Given the description of an element on the screen output the (x, y) to click on. 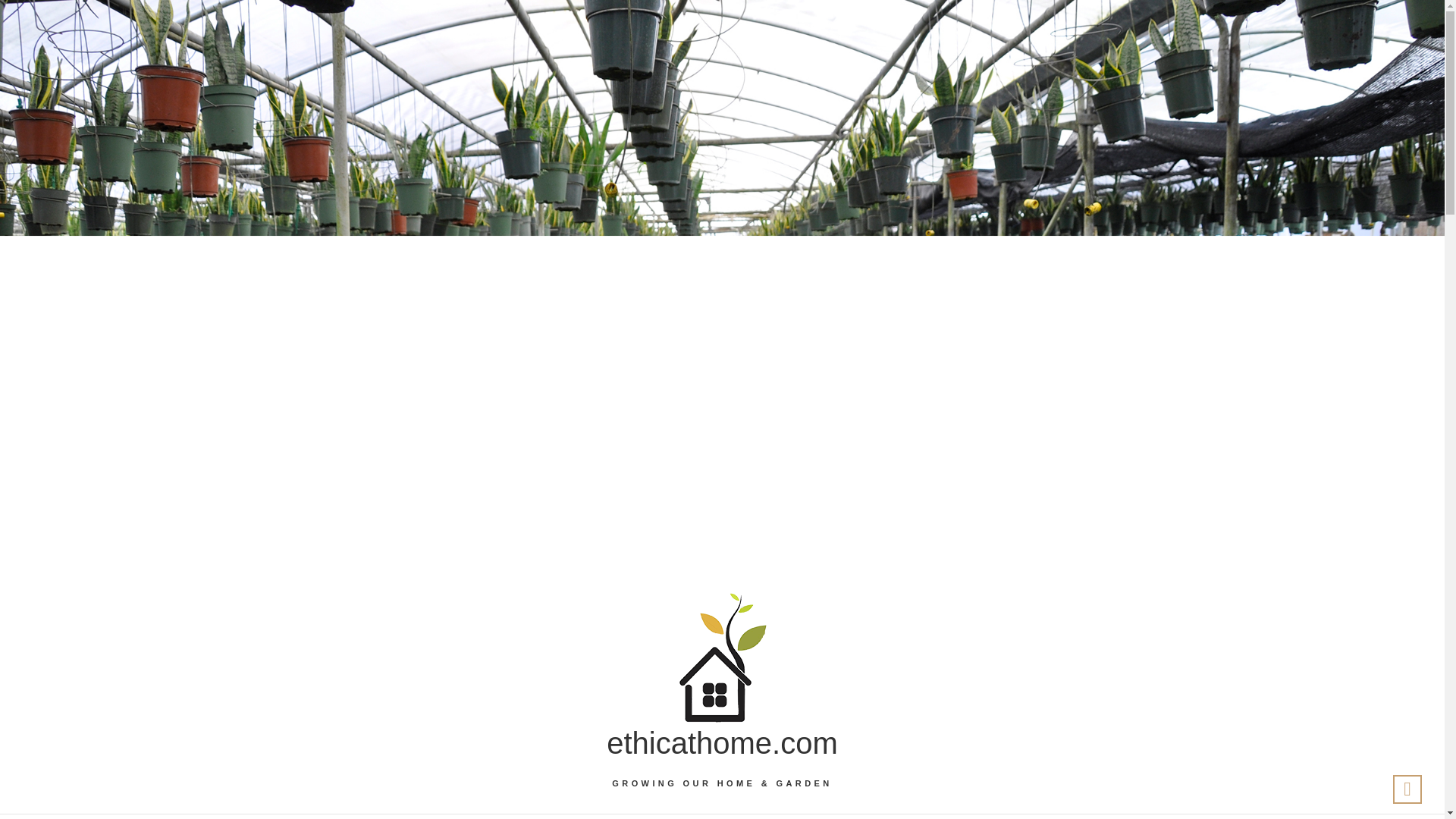
ethicathome.com (721, 742)
ethicathome.com (721, 742)
Go to Top (1407, 788)
DESIGN (492, 816)
GENERAL ARTICLE (900, 817)
OUTDOOR LIVING (760, 816)
GARDEN (575, 816)
HOME (654, 816)
